Given the description of an element on the screen output the (x, y) to click on. 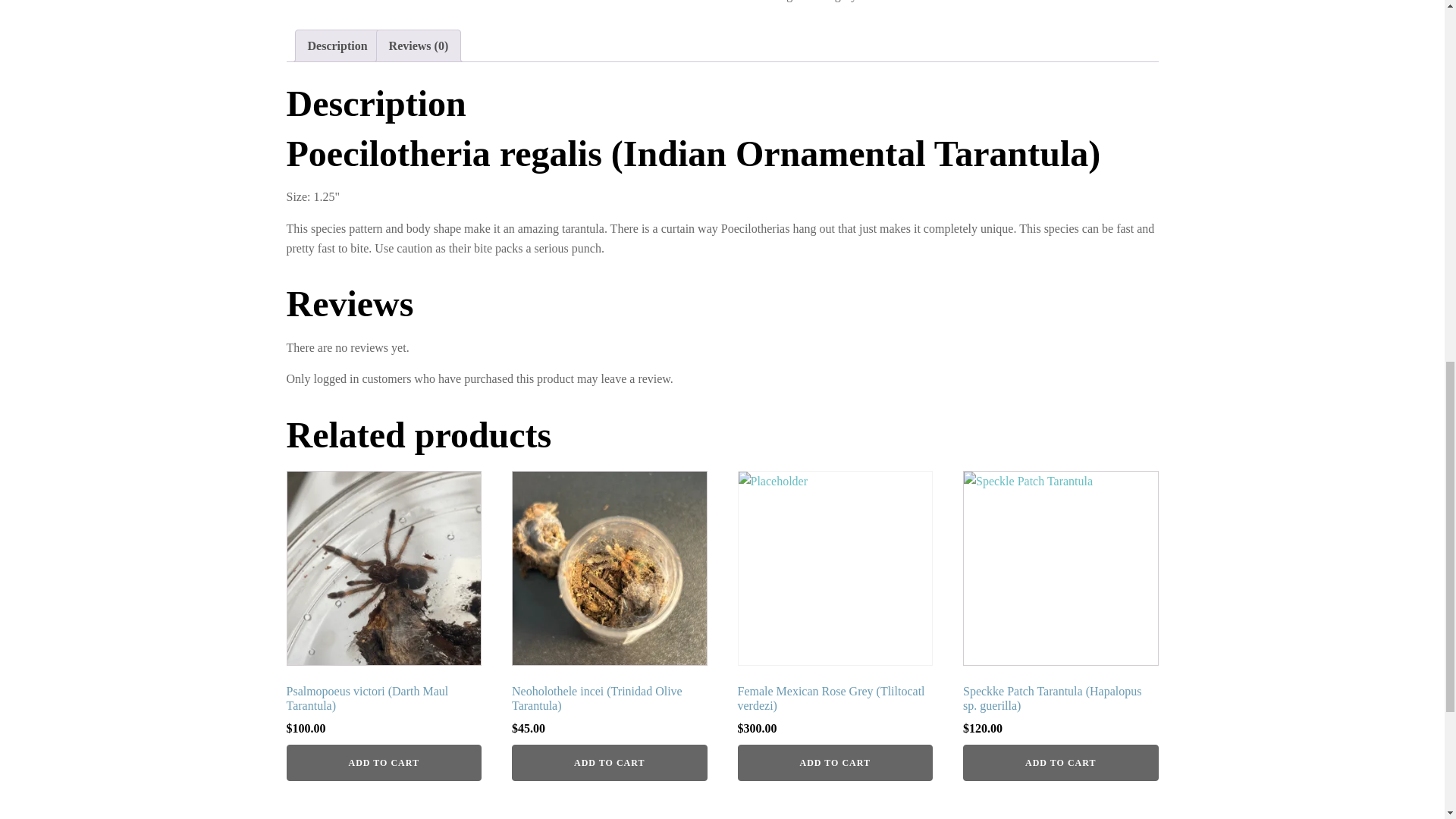
Tarantulas (887, 0)
ADD TO CART (609, 762)
ADD TO CART (834, 762)
Description (337, 46)
ADD TO CART (1060, 762)
ADD TO CART (383, 762)
